Given the description of an element on the screen output the (x, y) to click on. 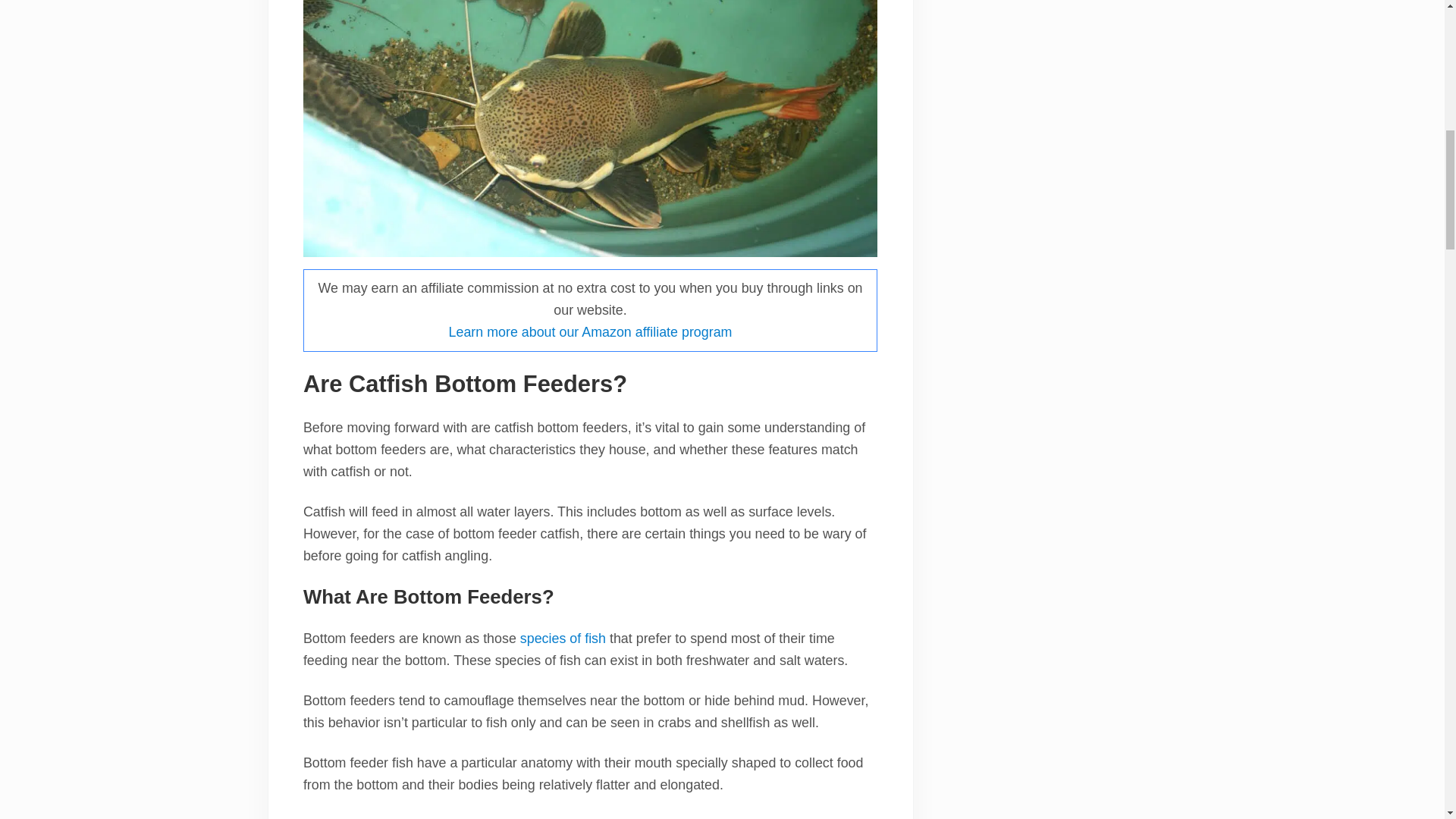
species of fish (562, 638)
Learn more about our Amazon affiliate program (590, 331)
